Given the description of an element on the screen output the (x, y) to click on. 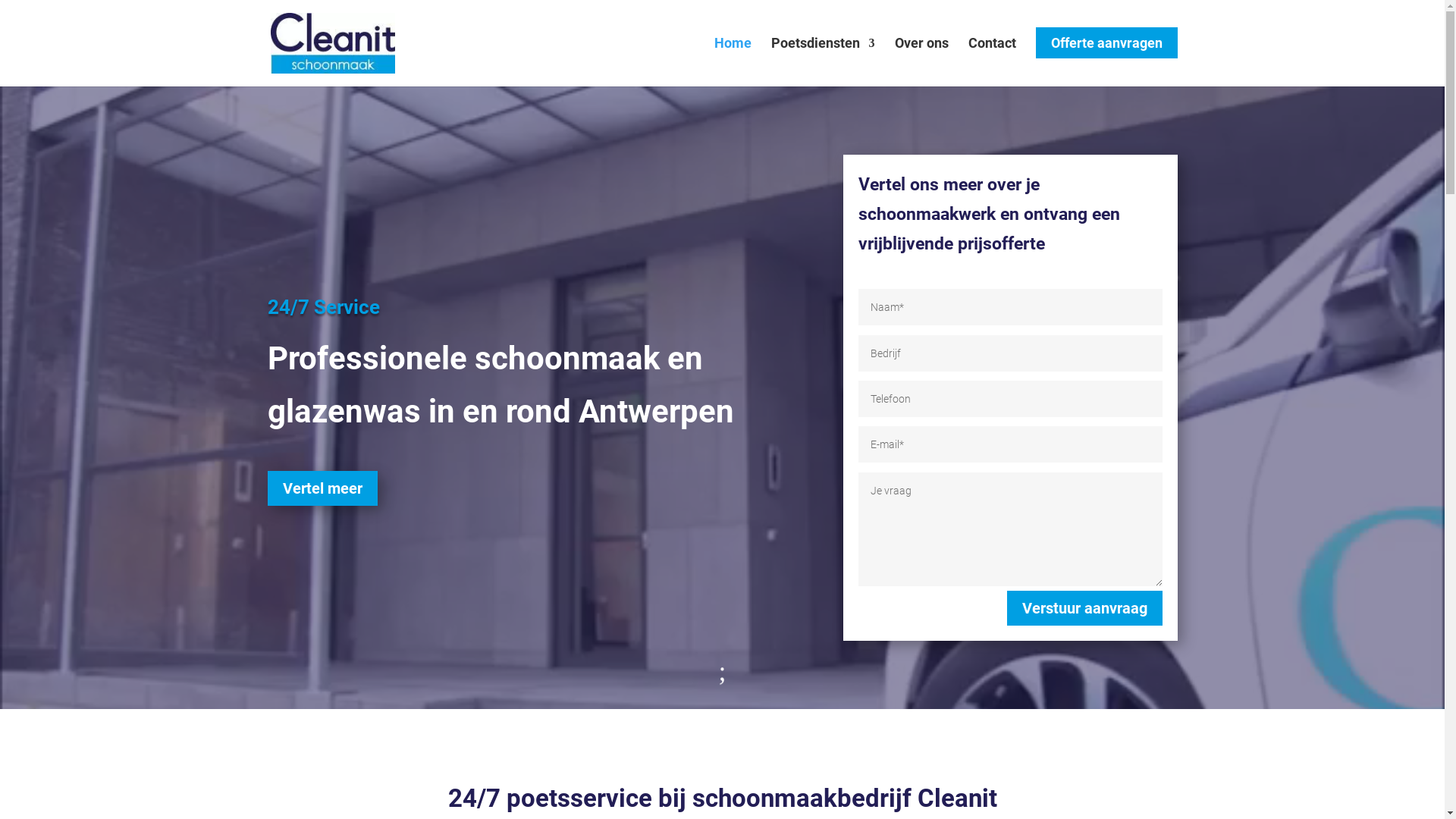
; Element type: text (721, 670)
Vertel meer Element type: text (322, 487)
Verstuur aanvraag Element type: text (1084, 607)
Over ons Element type: text (921, 61)
Home Element type: text (732, 61)
Contact Element type: text (991, 61)
Poetsdiensten Element type: text (822, 61)
Offerte aanvragen Element type: text (1106, 61)
